Given the description of an element on the screen output the (x, y) to click on. 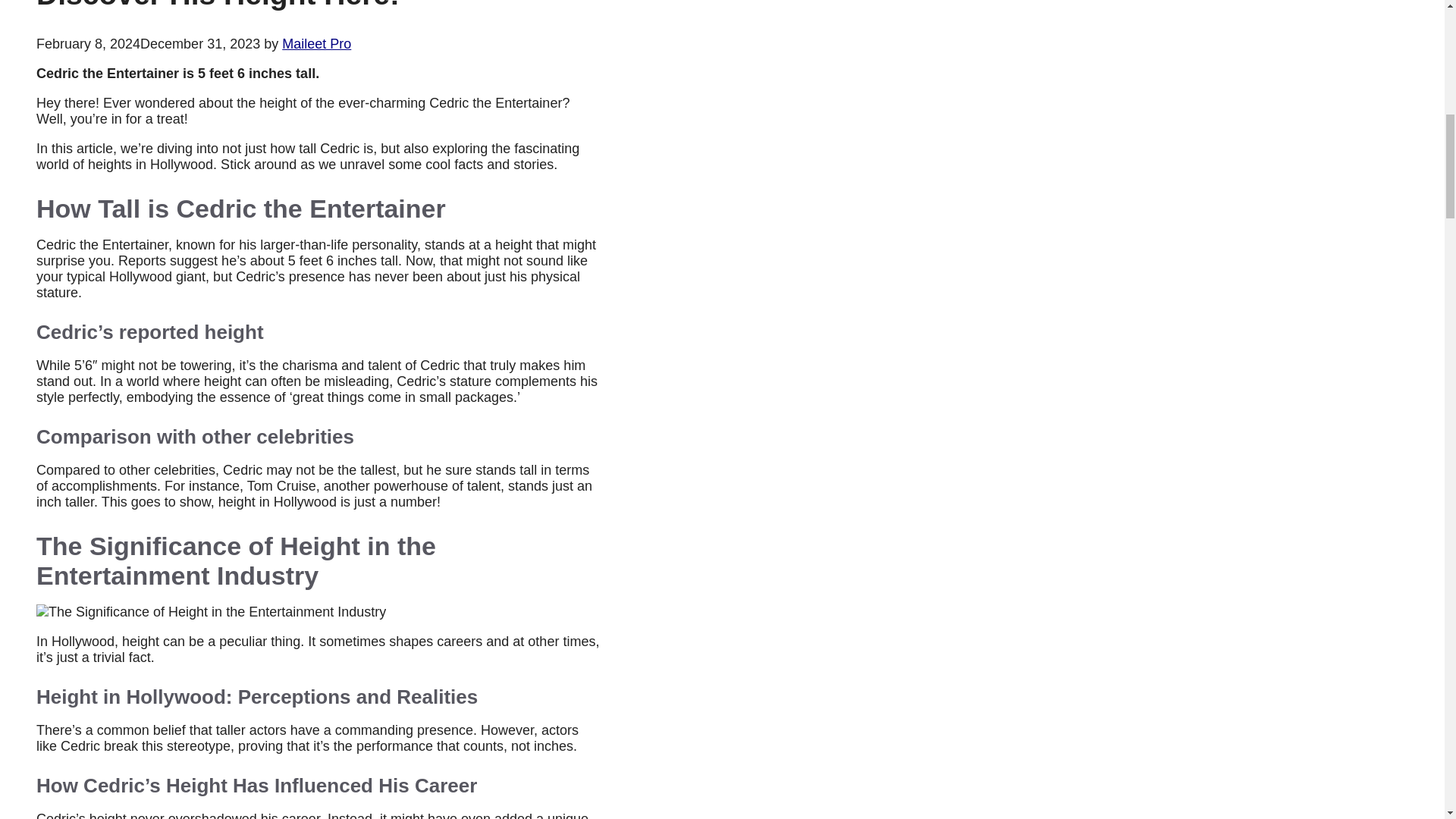
Maileet Pro (316, 43)
View all posts by Maileet Pro (316, 43)
